Given the description of an element on the screen output the (x, y) to click on. 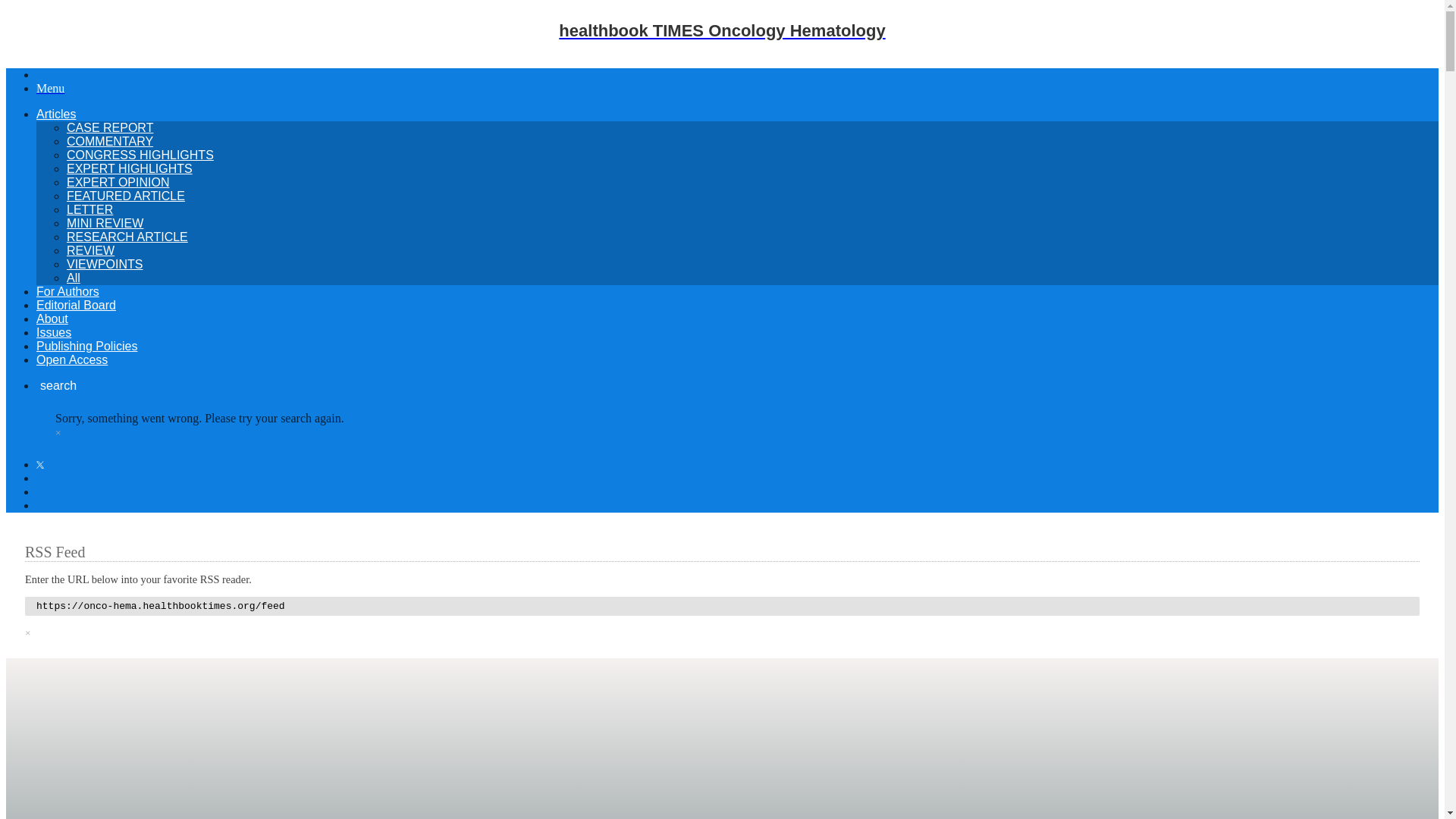
About (52, 318)
FEATURED ARTICLE (125, 195)
RESEARCH ARTICLE (126, 236)
CONGRESS HIGHLIGHTS (140, 154)
LETTER (89, 209)
EXPERT OPINION (117, 182)
VIEWPOINTS (104, 264)
Issues (53, 332)
CASE REPORT (109, 127)
Editorial Board (76, 305)
Menu (50, 88)
search (56, 385)
MINI REVIEW (104, 223)
All (73, 277)
Publishing Policies (86, 345)
